Given the description of an element on the screen output the (x, y) to click on. 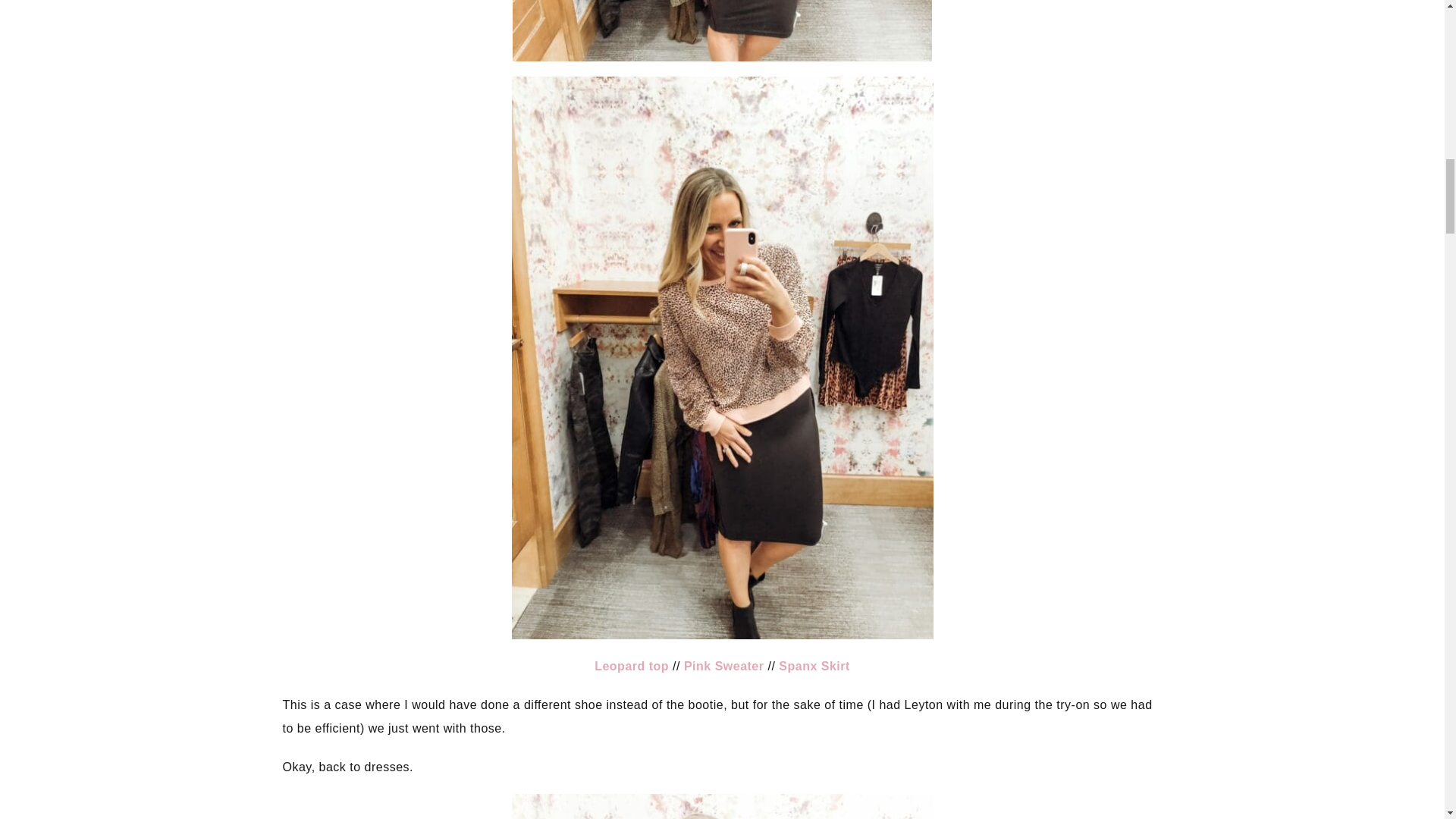
Leopard top (631, 666)
Spanx Skirt (814, 666)
Pink Sweater (724, 666)
